Given the description of an element on the screen output the (x, y) to click on. 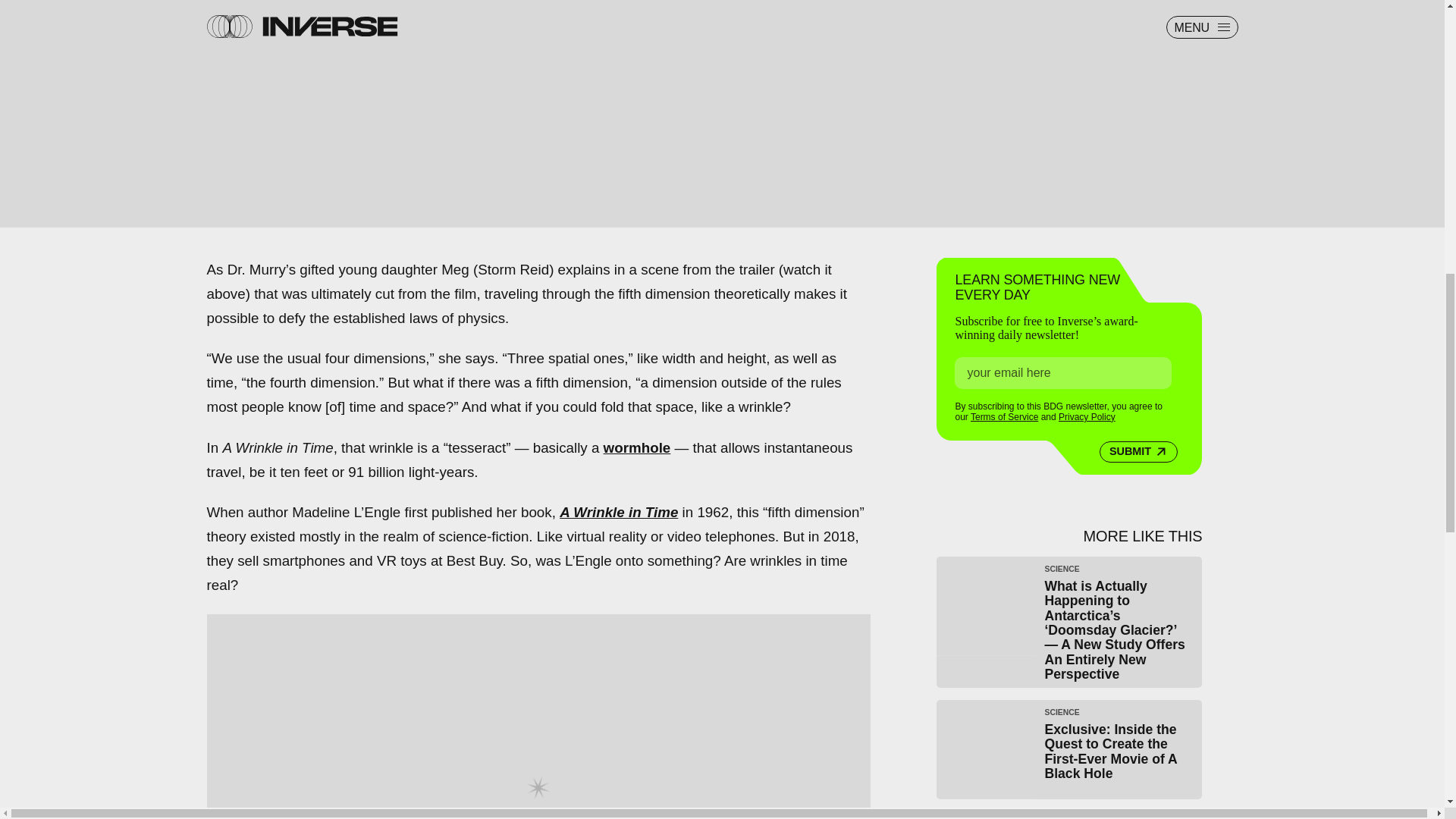
A Wrinkle in Time (618, 512)
Terms of Service (1004, 416)
wormhole (637, 447)
Privacy Policy (1086, 416)
SUBMIT (1138, 451)
